Given the description of an element on the screen output the (x, y) to click on. 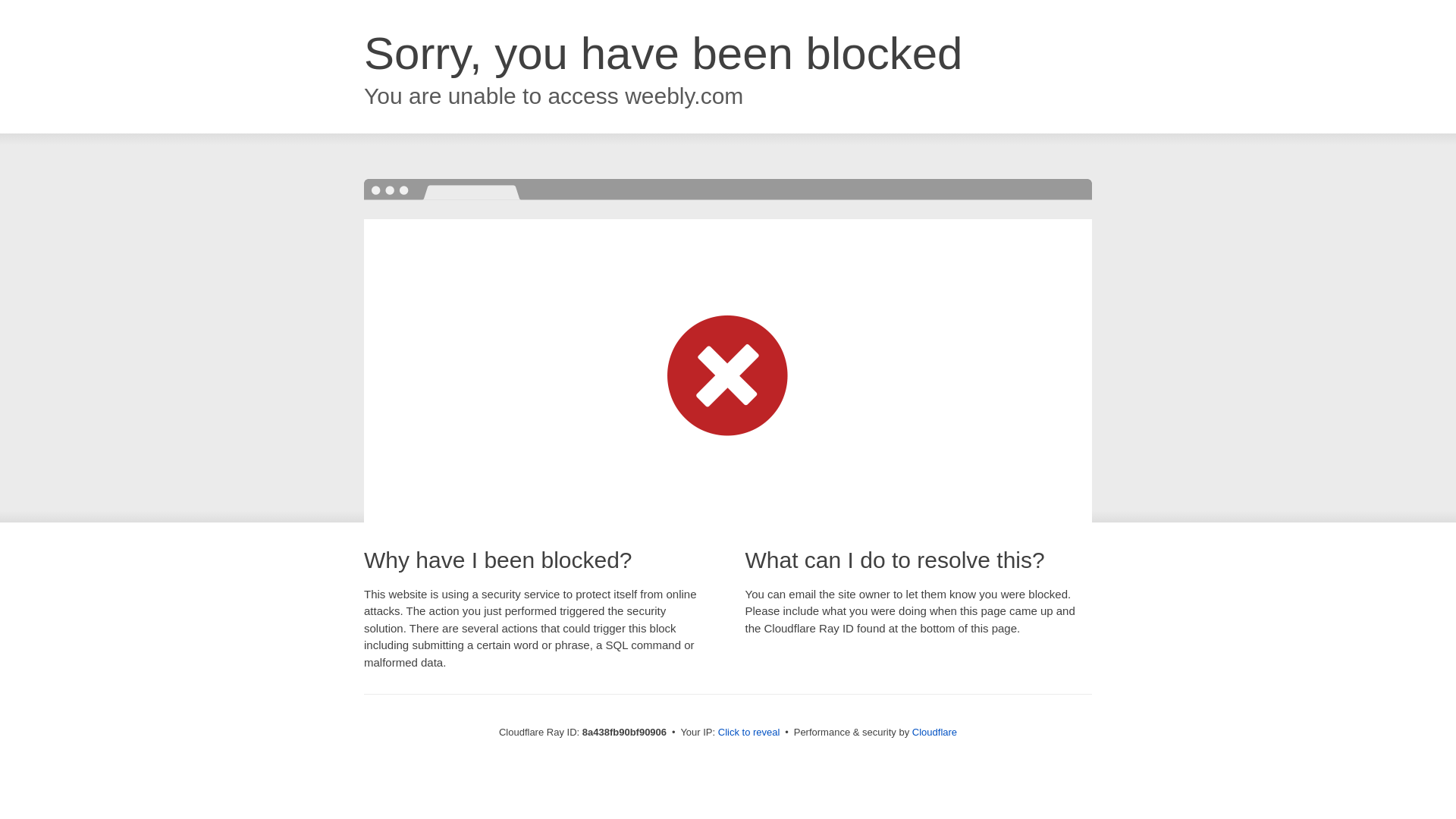
Cloudflare (934, 731)
Click to reveal (748, 732)
